Given the description of an element on the screen output the (x, y) to click on. 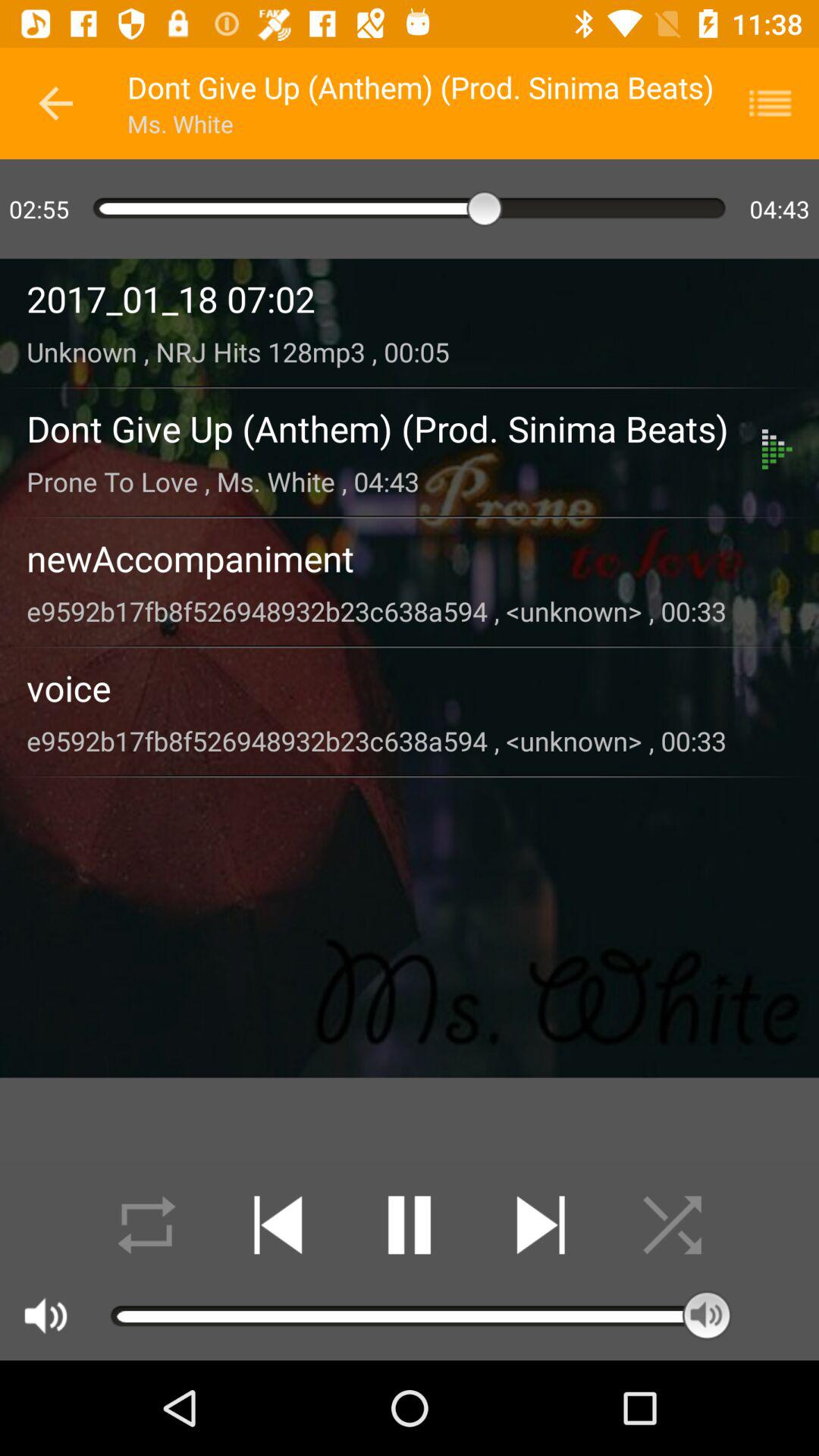
click the prone to love item (394, 481)
